Given the description of an element on the screen output the (x, y) to click on. 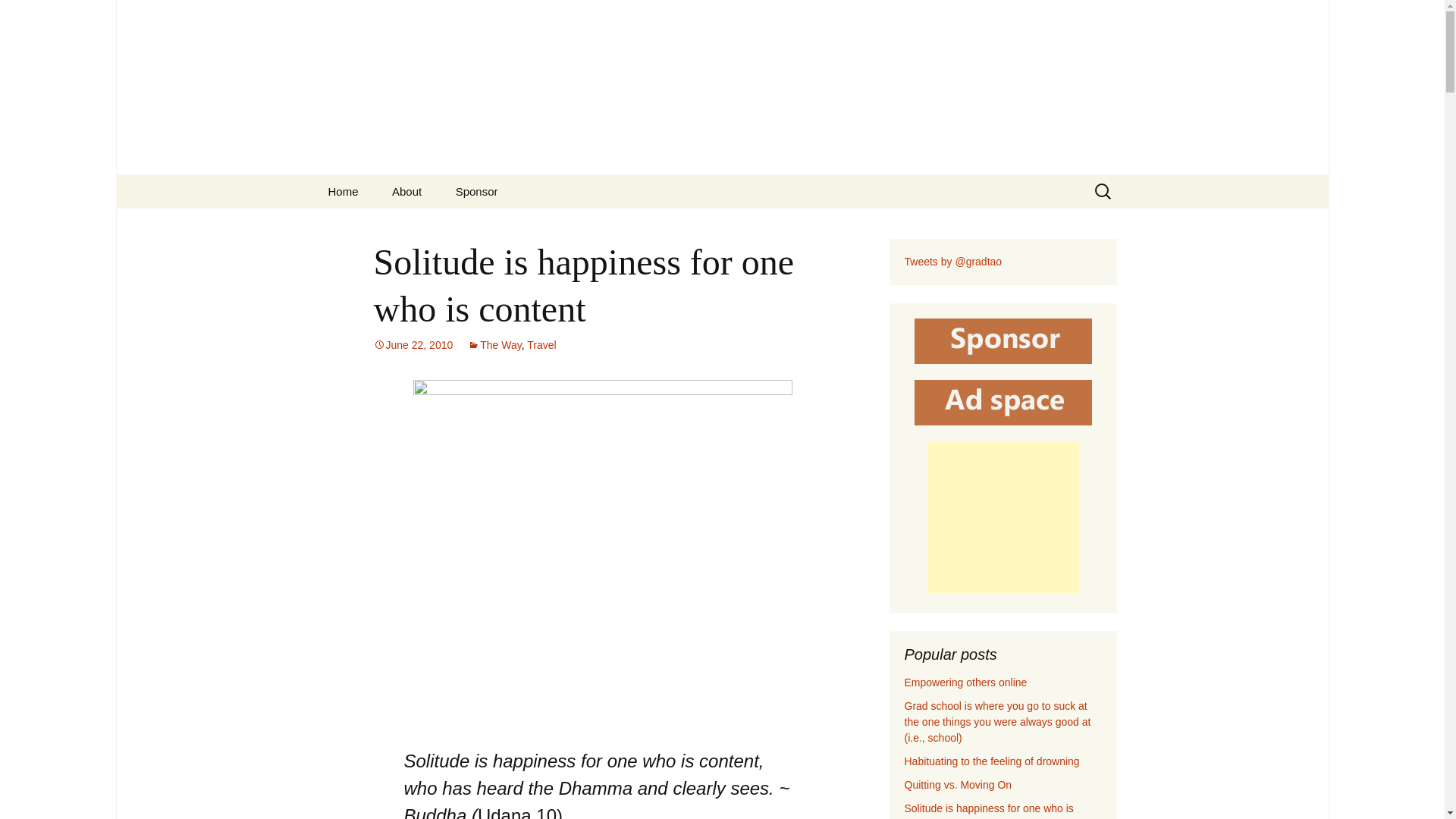
Permalink to Solitude is happiness for one who is content (412, 345)
About (406, 191)
Travel (541, 345)
The Way (494, 345)
angel (602, 554)
Skip to content (353, 183)
Home (342, 191)
Search (18, 15)
Sponsor (477, 191)
June 22, 2010 (412, 345)
Skip to content (353, 183)
Search for: (1103, 191)
